Given the description of an element on the screen output the (x, y) to click on. 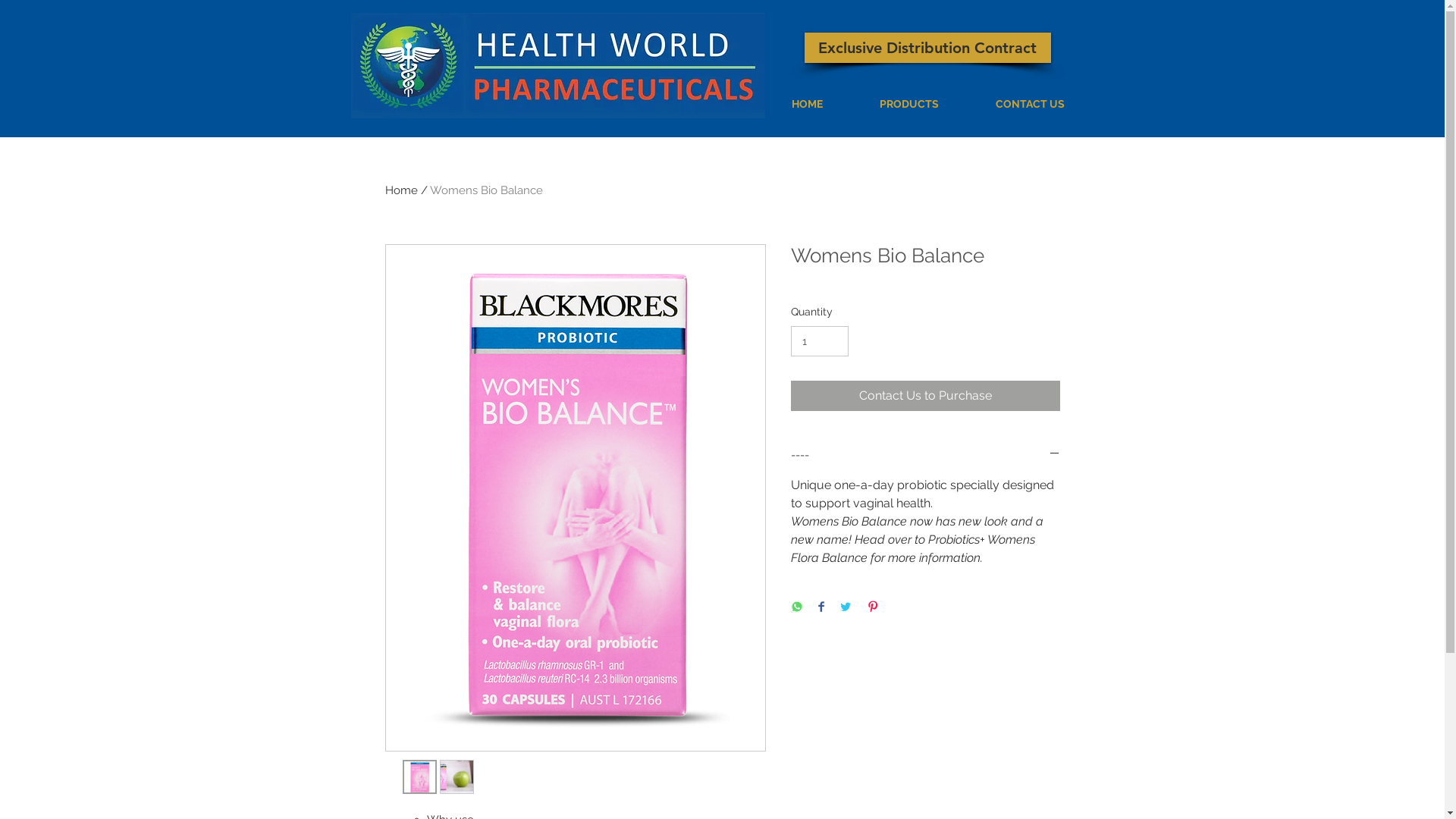
CONTACT US Element type: text (1029, 103)
Exclusive Distribution Contract Element type: text (926, 47)
Contact Us to Purchase Element type: text (924, 395)
Home Element type: text (401, 190)
PRODUCTS Element type: text (908, 103)
HOME Element type: text (806, 103)
---- Element type: text (924, 455)
Womens Bio Balance Element type: text (485, 190)
